Given the description of an element on the screen output the (x, y) to click on. 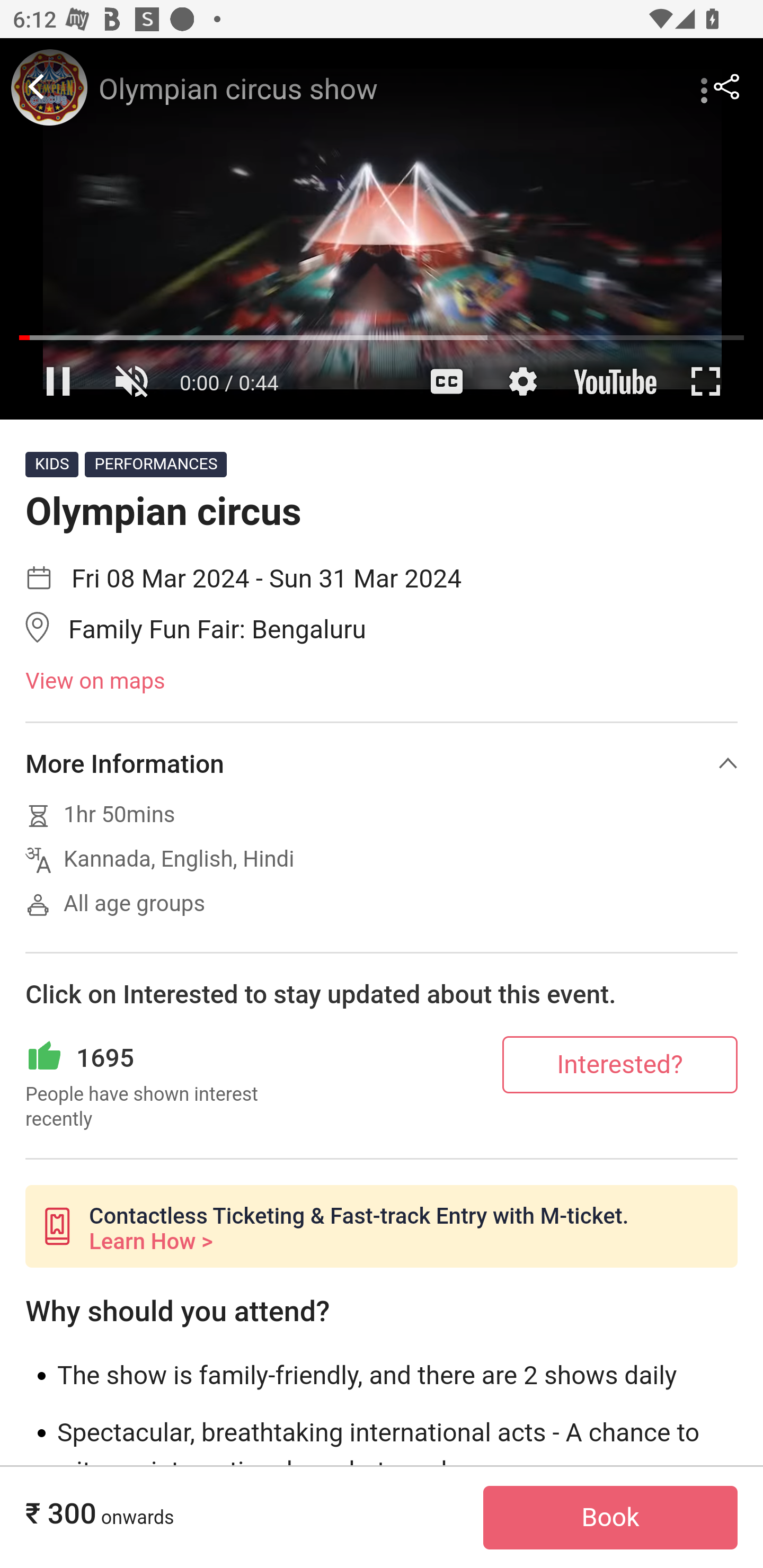
Olympian circus  (381, 228)
View on maps (381, 681)
More Information (381, 763)
Interested? (619, 1063)
Learn How > (150, 1241)
Book (609, 1517)
